Given the description of an element on the screen output the (x, y) to click on. 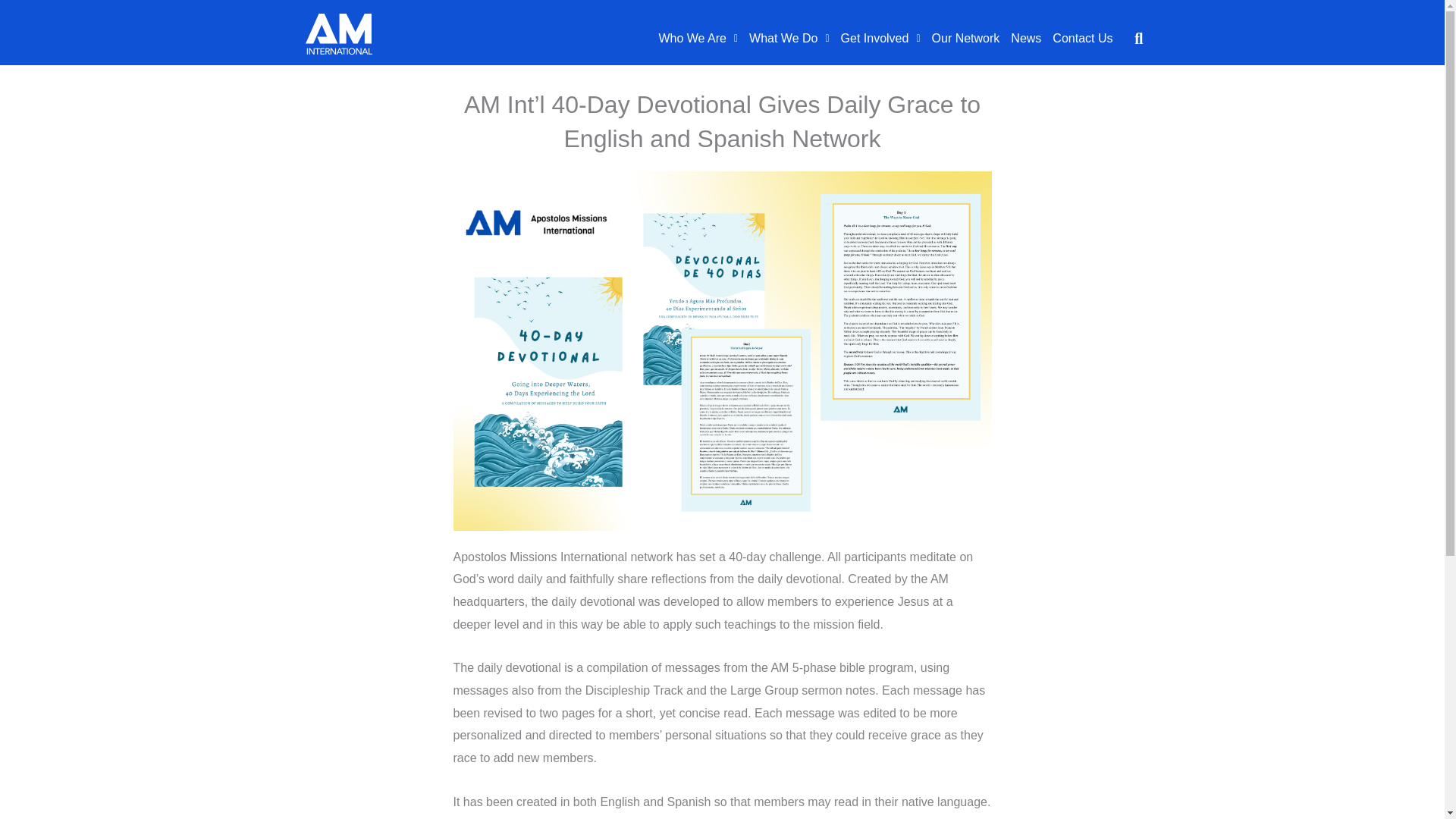
Get Involved (880, 38)
Search (1123, 38)
Who We Are (698, 38)
Our Network (965, 38)
Contact Us (1082, 38)
What We Do (789, 38)
News (1025, 38)
